Given the description of an element on the screen output the (x, y) to click on. 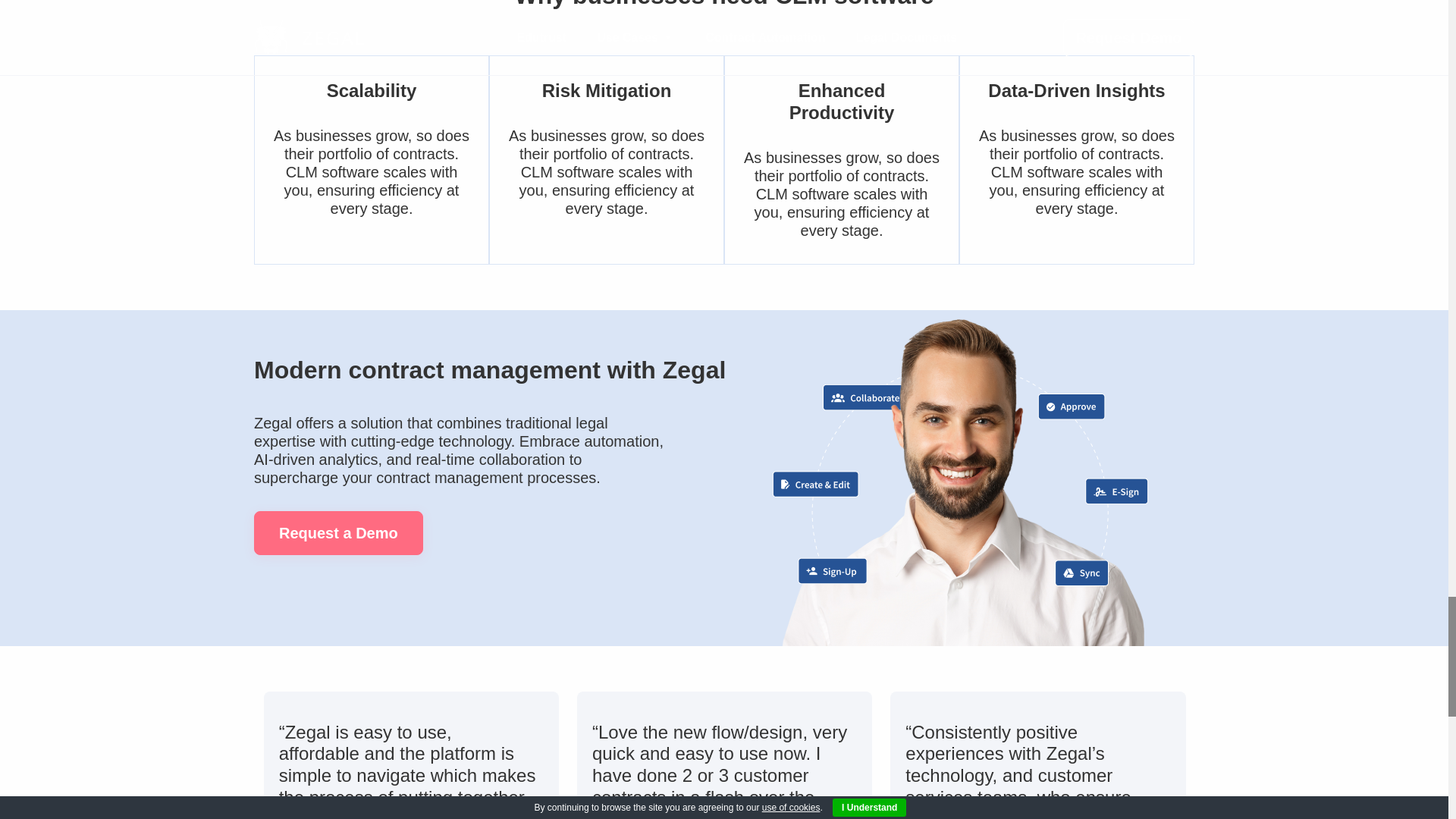
Request a Demo (338, 533)
Modern contract management with Zegal (959, 478)
